Given the description of an element on the screen output the (x, y) to click on. 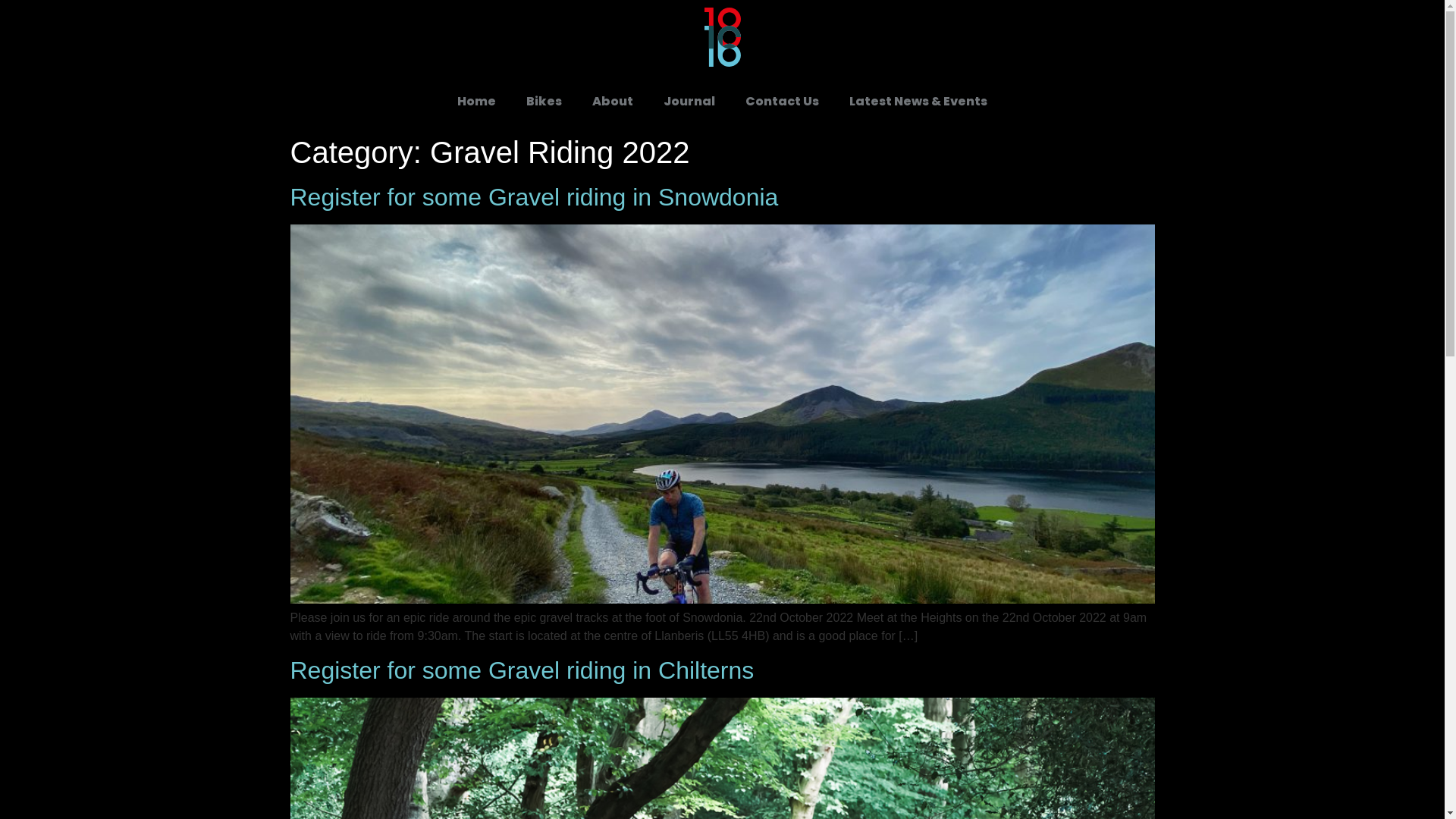
Latest News & Events Element type: text (918, 100)
Register for some Gravel riding in Chilterns Element type: text (521, 670)
Home Element type: text (476, 100)
Journal Element type: text (689, 100)
Register for some Gravel riding in Snowdonia Element type: text (533, 196)
About Element type: text (612, 100)
Bikes Element type: text (544, 100)
Contact Us Element type: text (782, 100)
